Given the description of an element on the screen output the (x, y) to click on. 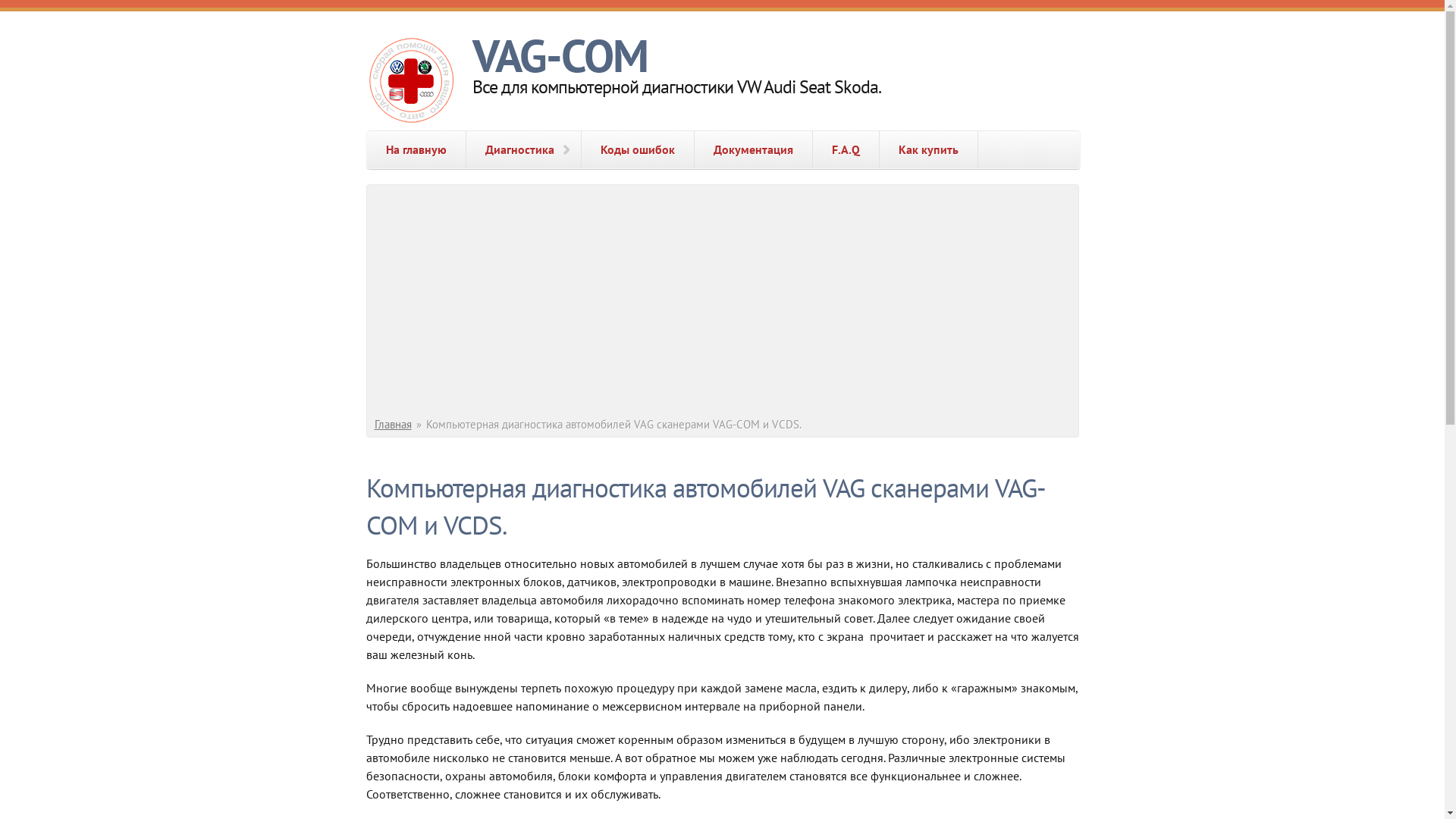
VAG-COM Element type: text (558, 54)
F.A.Q Element type: text (845, 149)
Advertisement Element type: hover (724, 302)
